Given the description of an element on the screen output the (x, y) to click on. 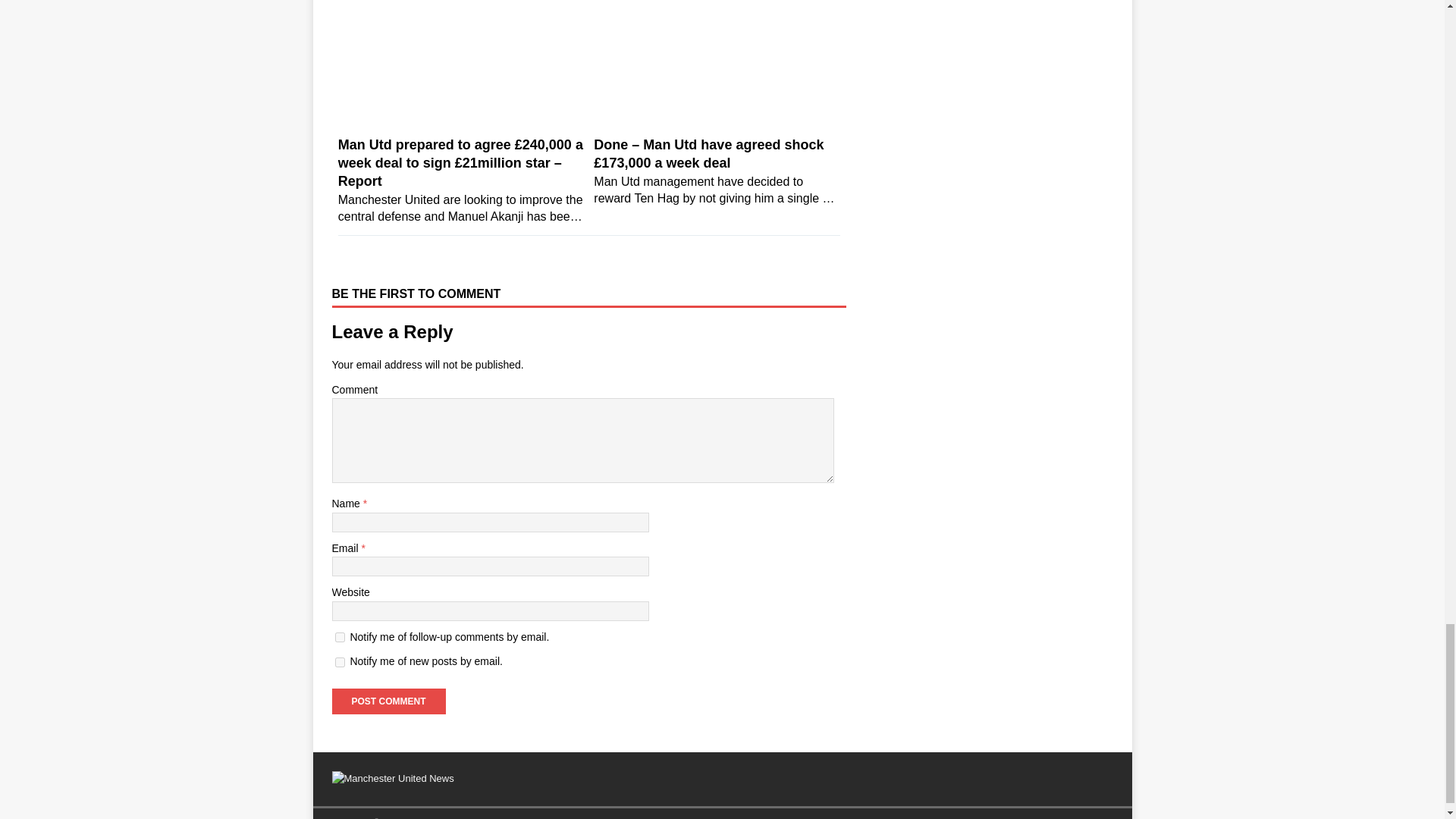
subscribe (339, 637)
subscribe (339, 662)
Post Comment (388, 701)
